Given the description of an element on the screen output the (x, y) to click on. 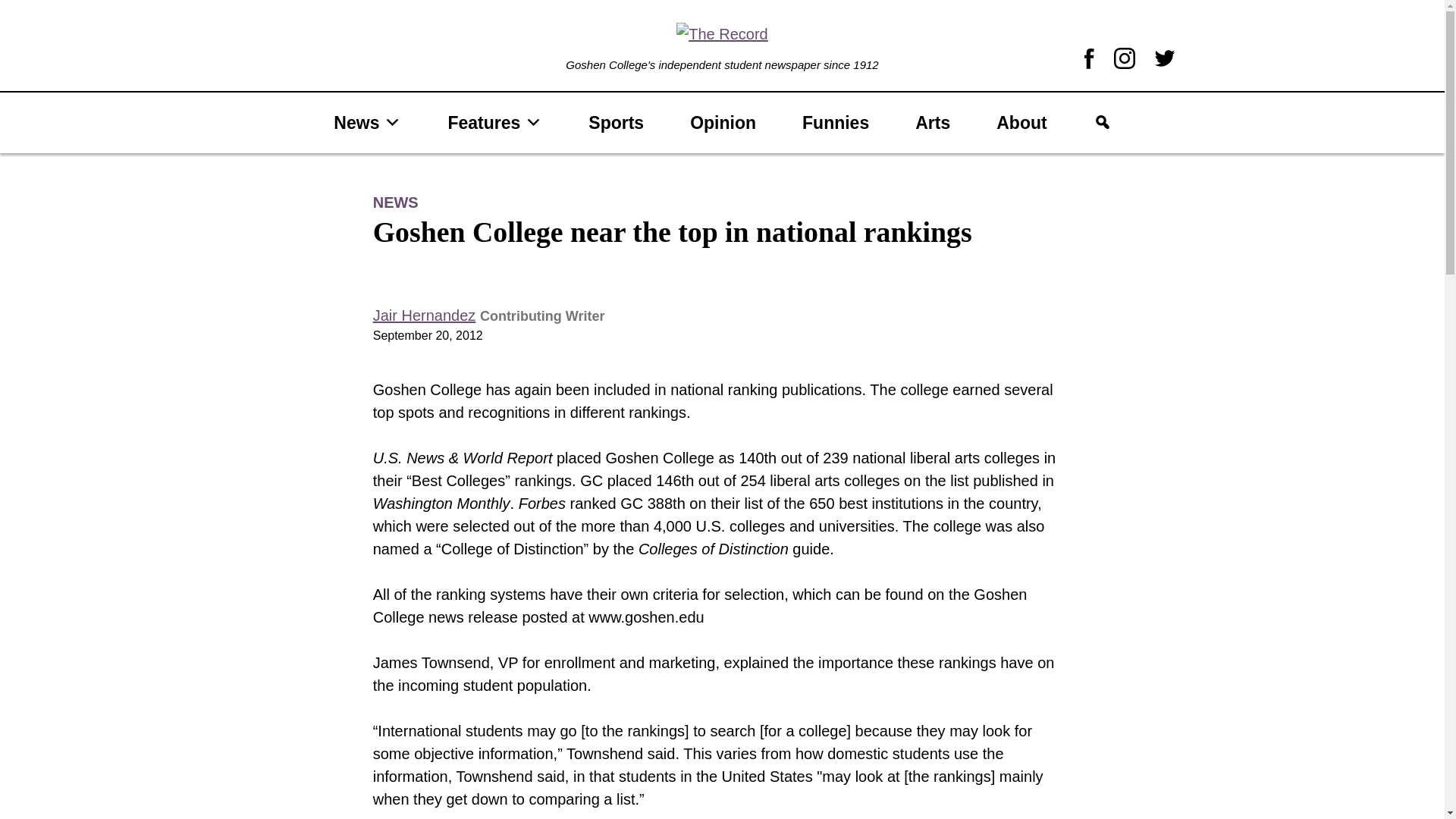
Features (494, 122)
News (367, 122)
Funnies (834, 122)
Opinion (722, 122)
About (1021, 122)
Sports (616, 122)
Arts (932, 122)
Jair Hernandez (424, 315)
